Given the description of an element on the screen output the (x, y) to click on. 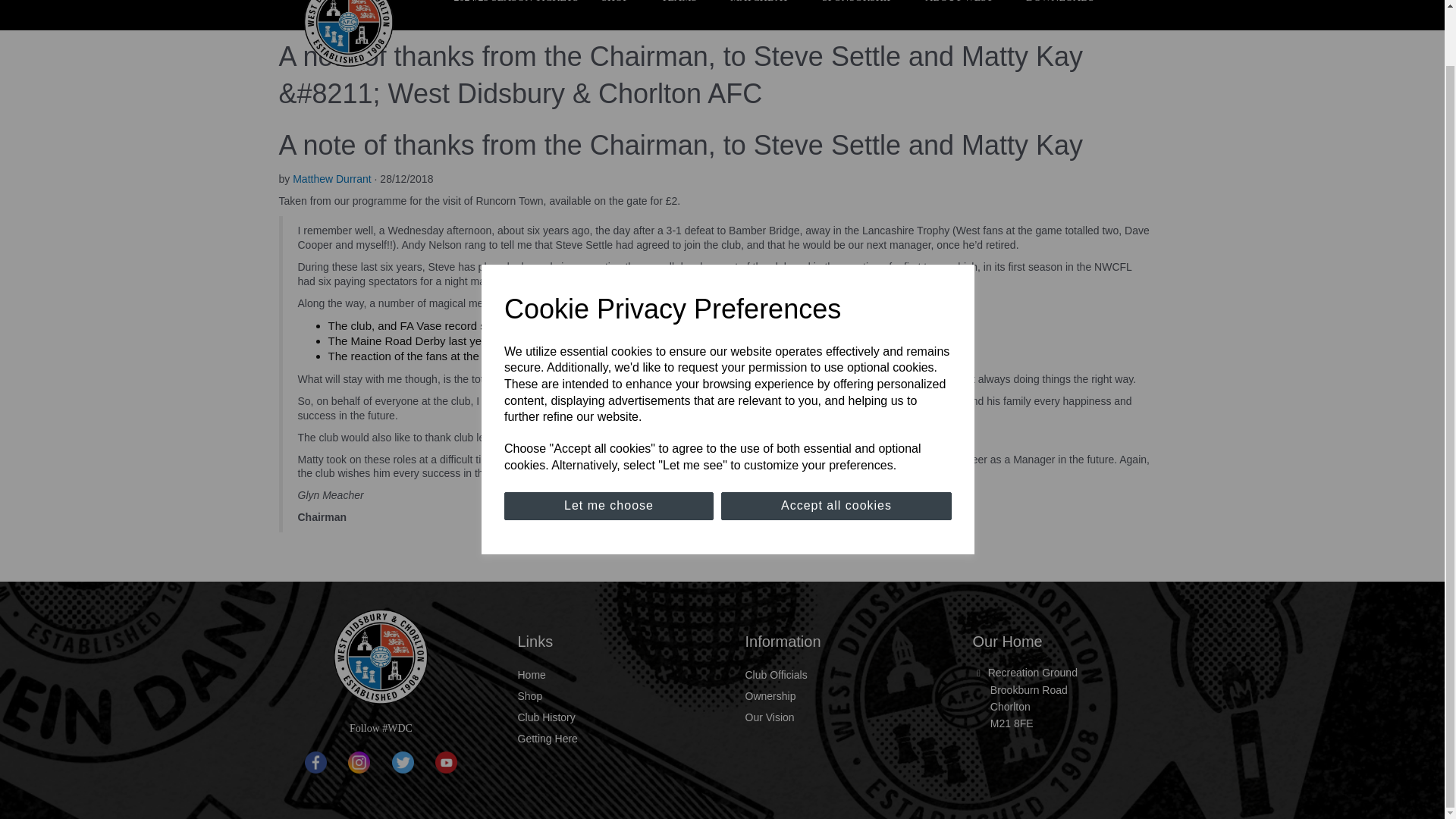
Accept all cookies (836, 446)
Posts by Matthew Durrant (331, 178)
MATCHDAY (764, 9)
TEAMS (684, 9)
Let me choose (608, 446)
SHOP (619, 9)
